Given the description of an element on the screen output the (x, y) to click on. 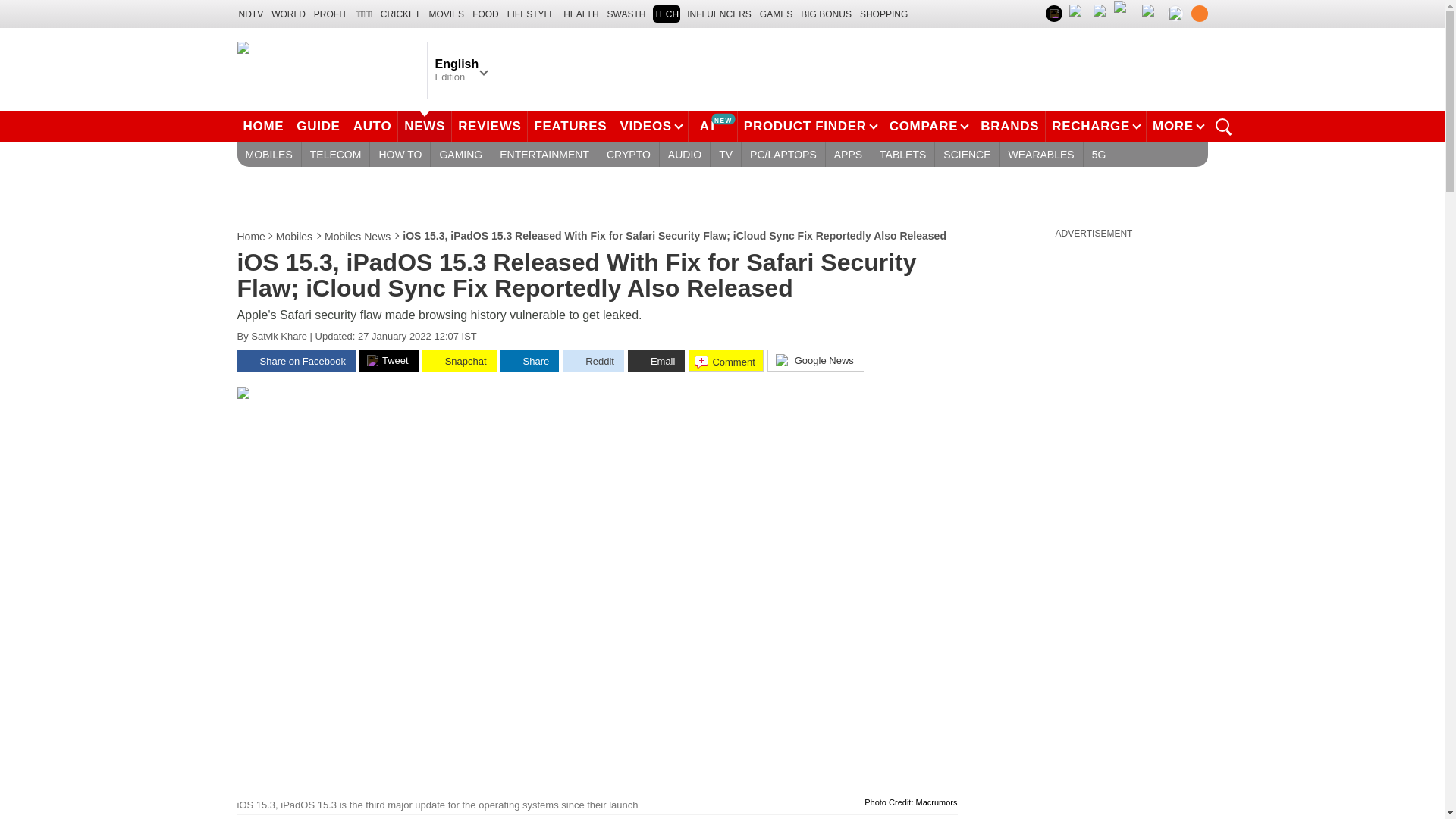
TECH (665, 13)
NDTV (249, 13)
Big Bonus (826, 13)
VIDEOS (649, 126)
RSS (1199, 13)
Gadgets 360 (327, 68)
NDTV (249, 13)
LIFESTYLE (530, 13)
WORLD (288, 13)
MOVIES (445, 13)
NEWS (424, 126)
TECH (665, 13)
FOOD (485, 13)
Home (250, 236)
AUTO (372, 126)
